Given the description of an element on the screen output the (x, y) to click on. 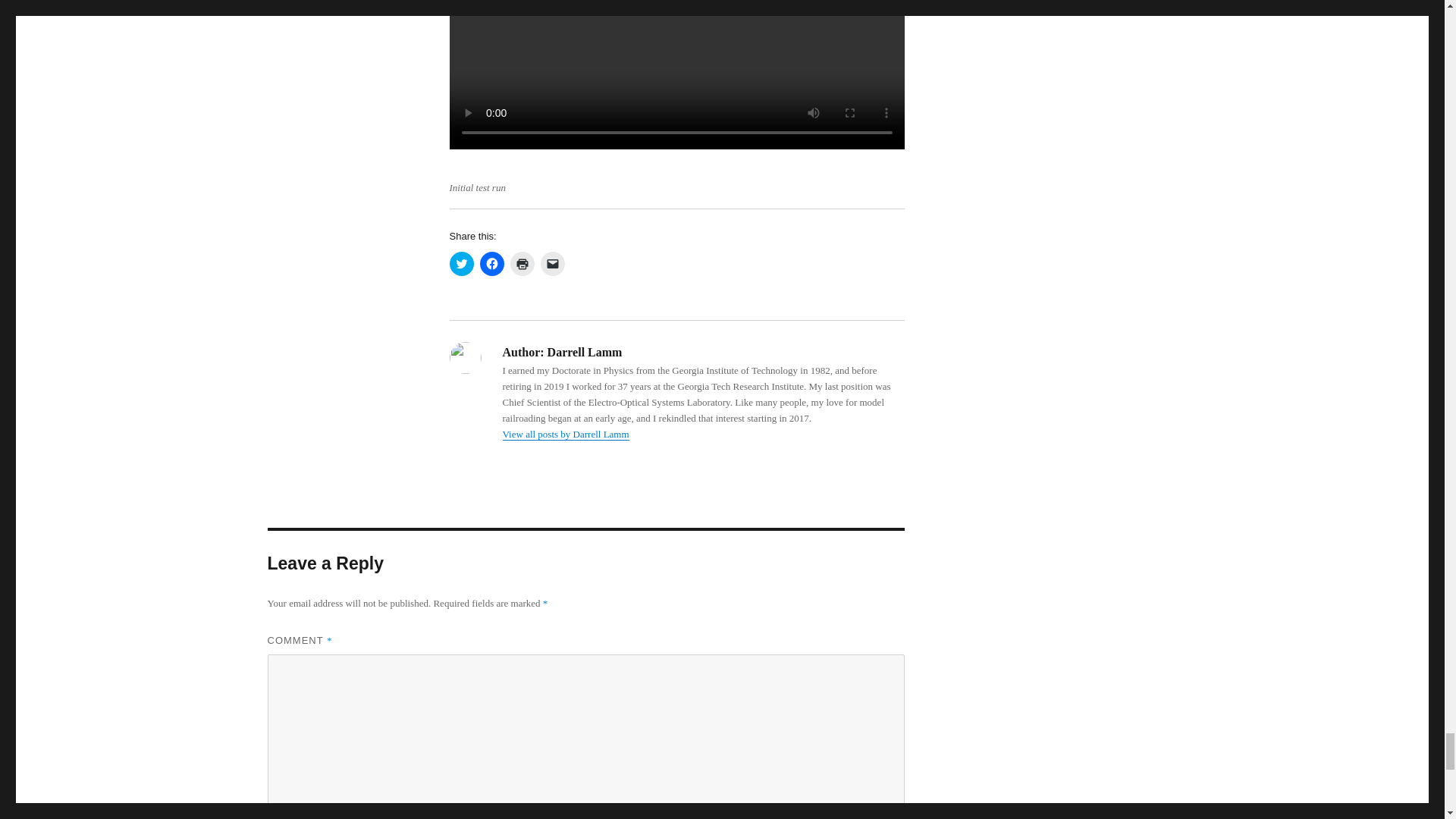
Click to share on Facebook (491, 263)
Click to print (521, 263)
Click to email a link to a friend (552, 263)
Click to share on Twitter (460, 263)
View all posts by Darrell Lamm (565, 433)
